Given the description of an element on the screen output the (x, y) to click on. 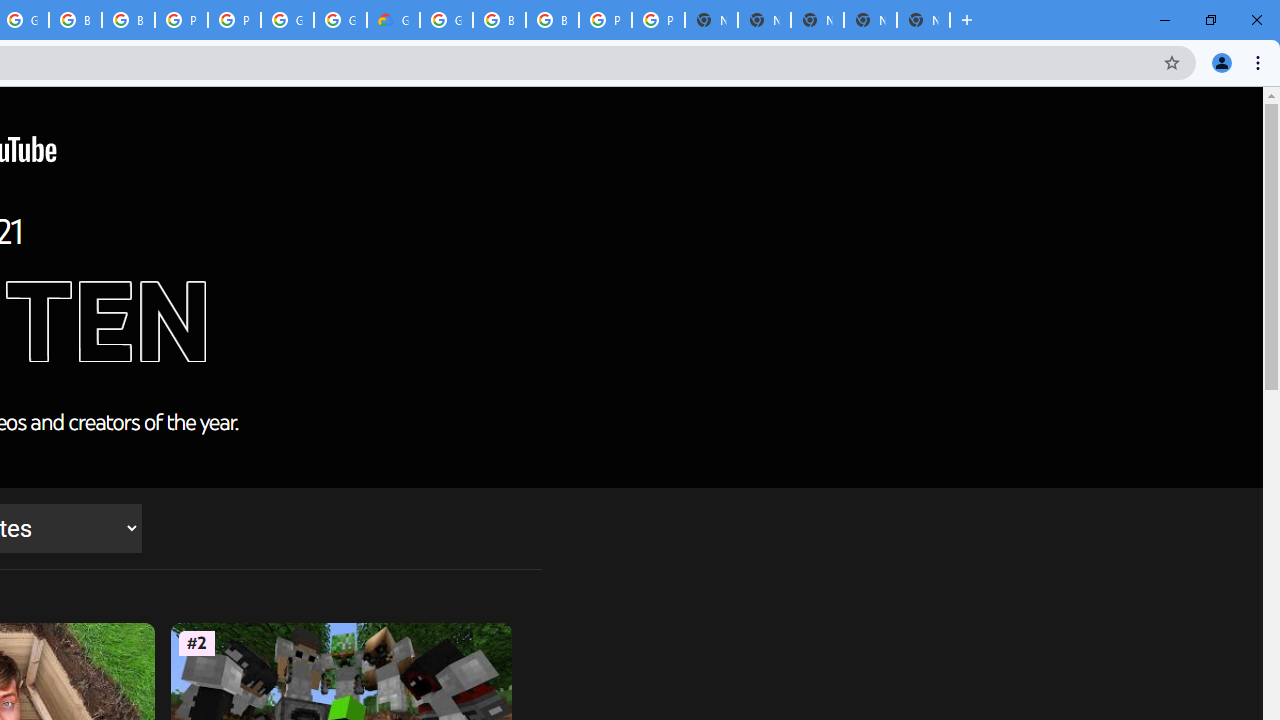
New Tab (923, 20)
Google Cloud Platform (340, 20)
